Given the description of an element on the screen output the (x, y) to click on. 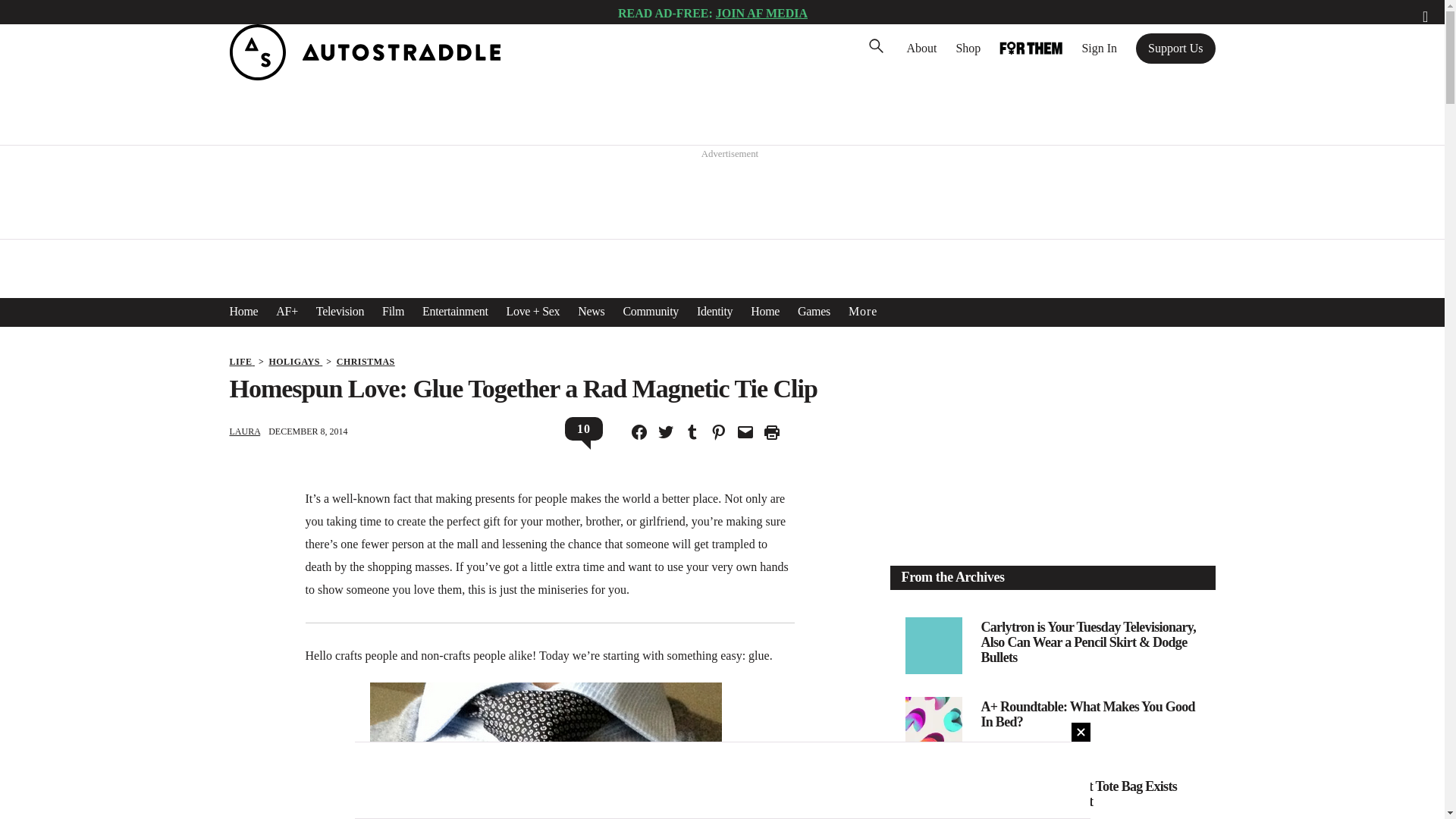
Sign In (1098, 48)
Autostraddle (363, 75)
Shop (967, 48)
Posts by Laura (244, 430)
Search (34, 15)
3rd party ad content (722, 196)
JOIN AF MEDIA (762, 12)
Home (242, 311)
Television (339, 311)
